Given the description of an element on the screen output the (x, y) to click on. 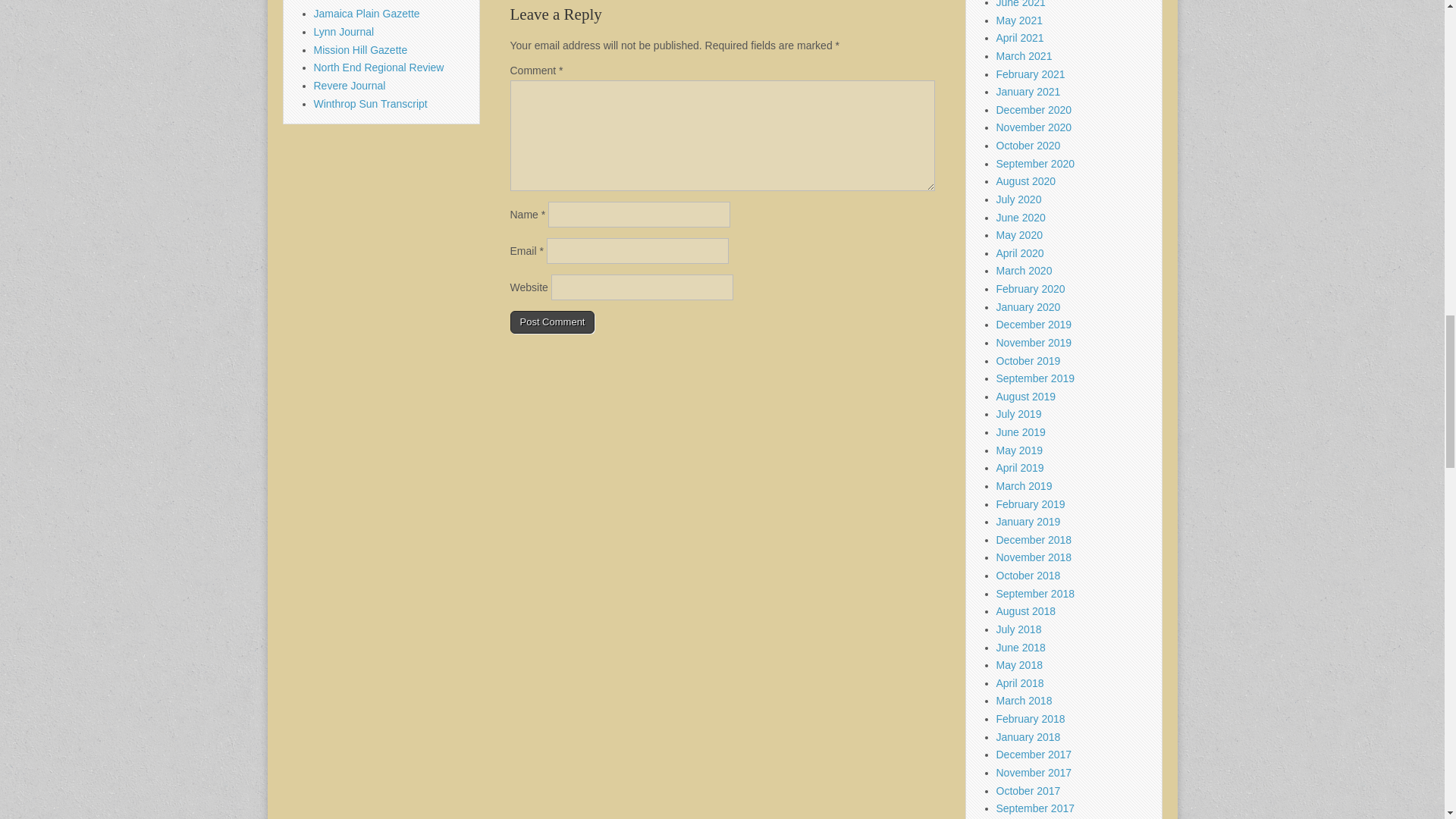
East Boston Times Free Press (385, 1)
Post Comment (551, 322)
Post Comment (551, 322)
Lynn Journal (344, 31)
Jamaica Plain Gazette (367, 13)
